Given the description of an element on the screen output the (x, y) to click on. 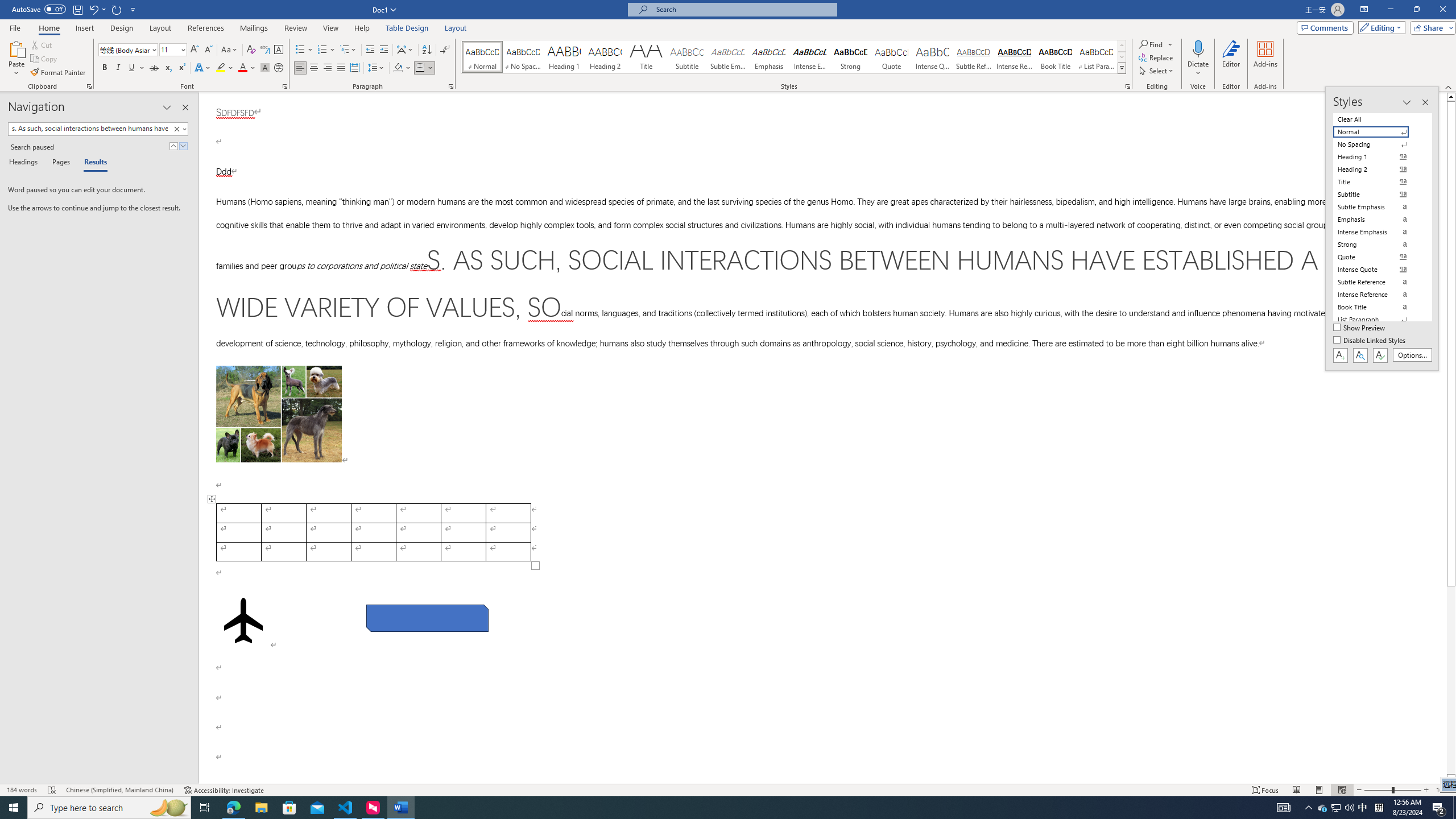
Zoom 100% (1443, 790)
Word Count 184 words (22, 790)
Options... (1412, 354)
